Given the description of an element on the screen output the (x, y) to click on. 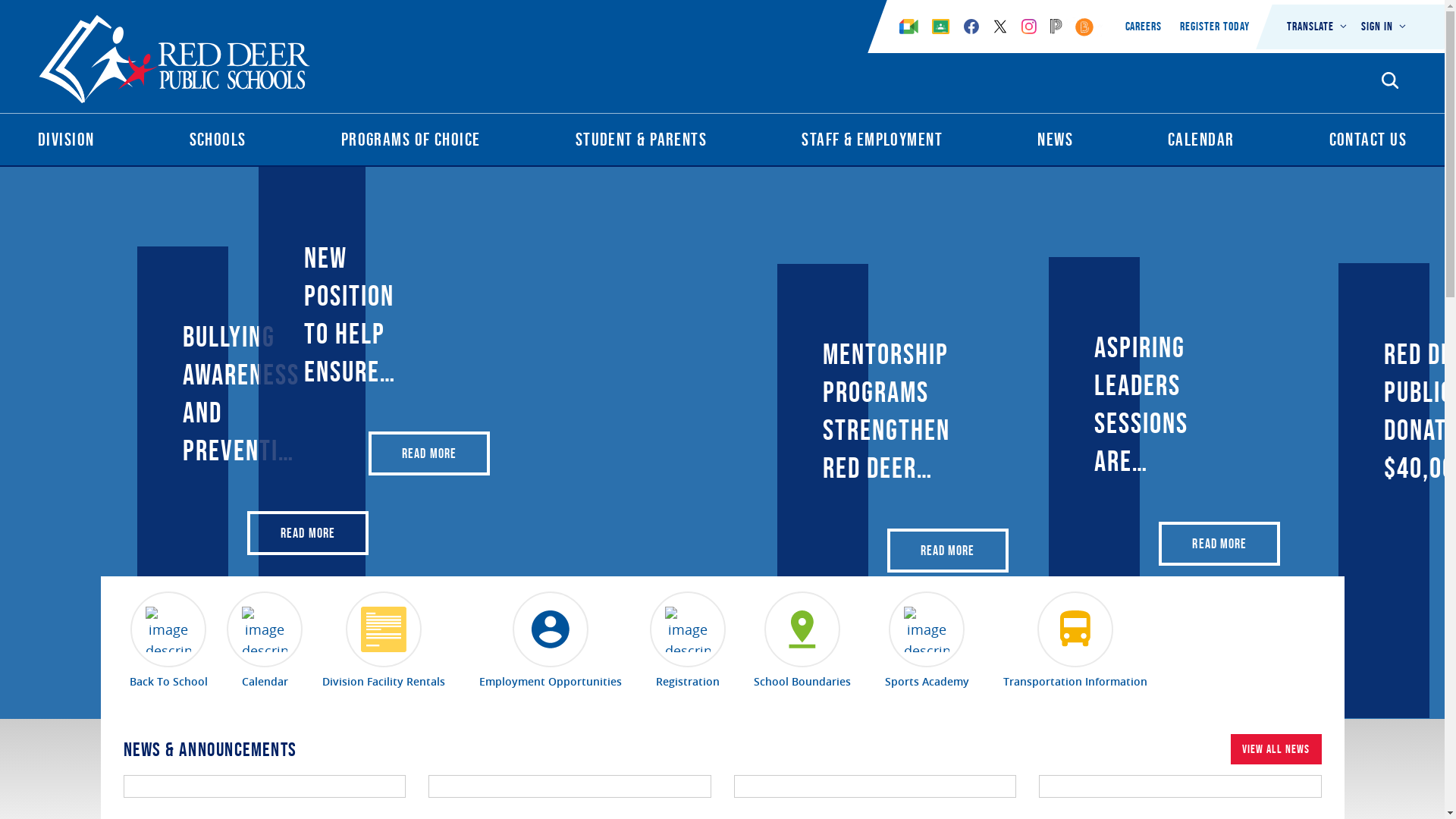
Calendar Element type: text (263, 640)
READ MORE Element type: text (947, 550)
Schools Element type: text (217, 142)
Bullying Awareness and Prevention Week Element type: text (243, 393)
Registration Element type: text (687, 640)
VIEW ALL NEWS Element type: text (1275, 749)
Staff & Employment Element type: text (871, 142)
News Element type: text (1055, 142)
Sign In Element type: text (1383, 26)
Student & Parents Element type: text (640, 142)
READ MORE Element type: text (428, 453)
Back To School Element type: text (167, 640)
Contact Us Element type: text (1367, 142)
Transportation Information Element type: text (1074, 640)
Careers Element type: text (1143, 25)
Division Element type: text (65, 142)
Register Today Element type: text (1213, 25)
Search Opener Element type: text (1389, 80)
Employment Opportunities Element type: text (550, 640)
Translate Element type: text (1317, 26)
Sports Academy Element type: text (926, 640)
Mentorship programs strengthen Red Deer Public Schools Element type: text (886, 410)
READ MORE Element type: text (307, 533)
School Boundaries Element type: text (802, 640)
READ MORE Element type: text (1219, 543)
Programs Of Choice Element type: text (410, 142)
Division Facility Rentals Element type: text (382, 640)
Aspiring Leaders sessions are back at Red Deer Public Element type: text (1141, 404)
Calendar Element type: text (1200, 142)
